Given the description of an element on the screen output the (x, y) to click on. 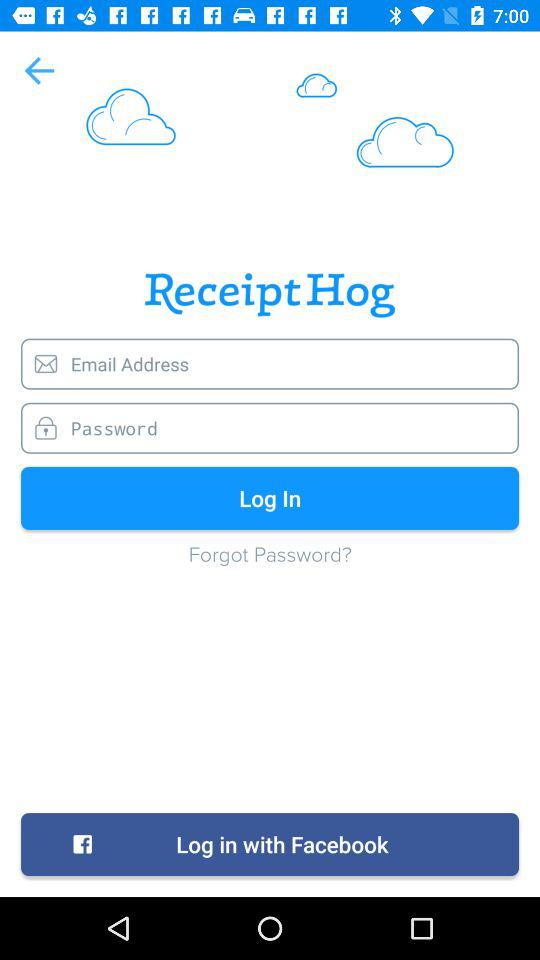
open the icon below the log in (270, 563)
